Given the description of an element on the screen output the (x, y) to click on. 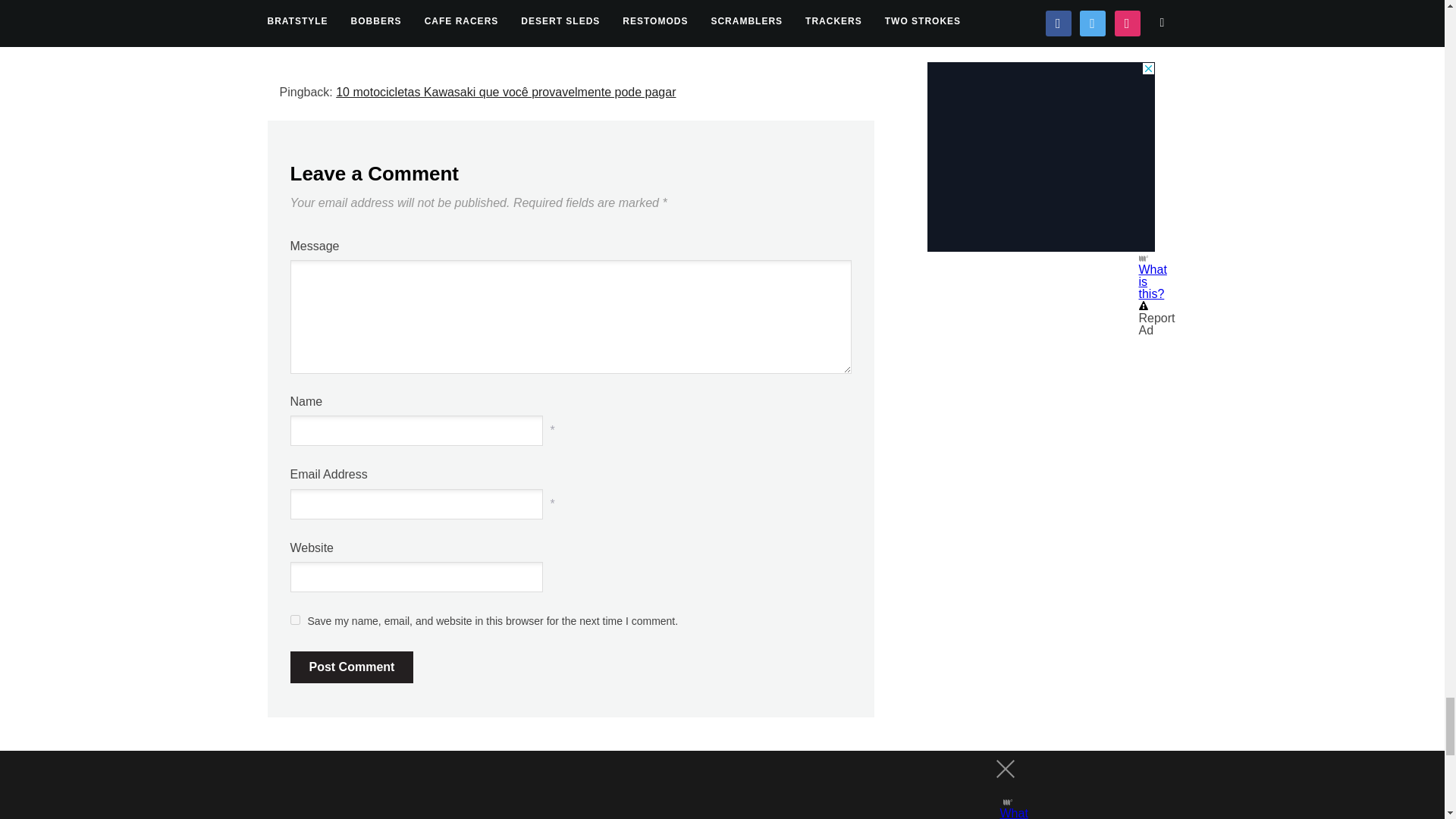
yes (294, 619)
Post Comment (351, 667)
